Given the description of an element on the screen output the (x, y) to click on. 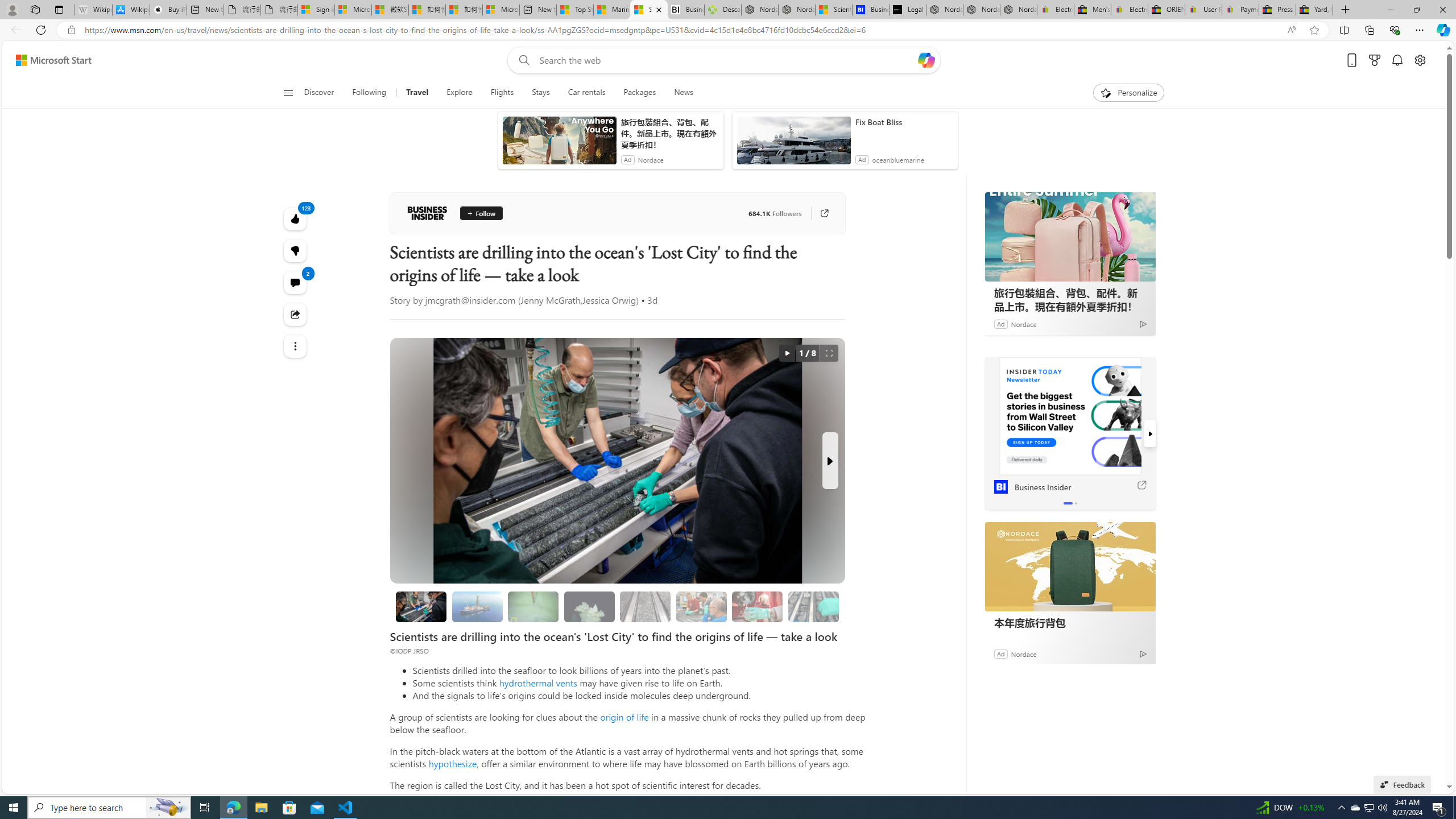
Stays (540, 92)
Full screen (828, 352)
origin of life (624, 716)
Buy iPad - Apple (168, 9)
